Given the description of an element on the screen output the (x, y) to click on. 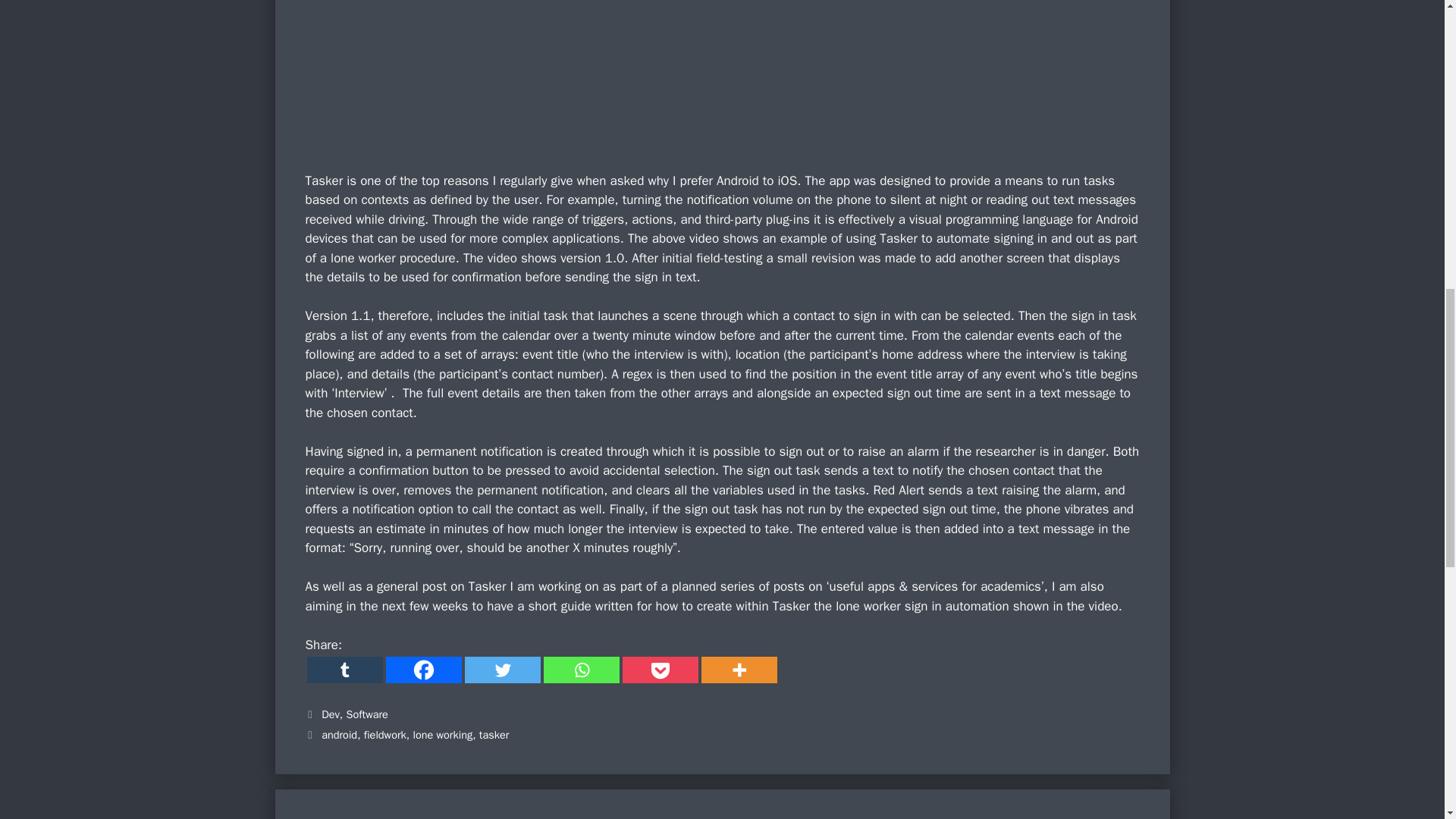
Whatsapp (580, 669)
android (338, 735)
Twitter (502, 669)
Software (366, 714)
More (738, 669)
lone working (441, 735)
fieldwork (385, 735)
Facebook (423, 669)
Dev (330, 714)
tasker (494, 735)
